Given the description of an element on the screen output the (x, y) to click on. 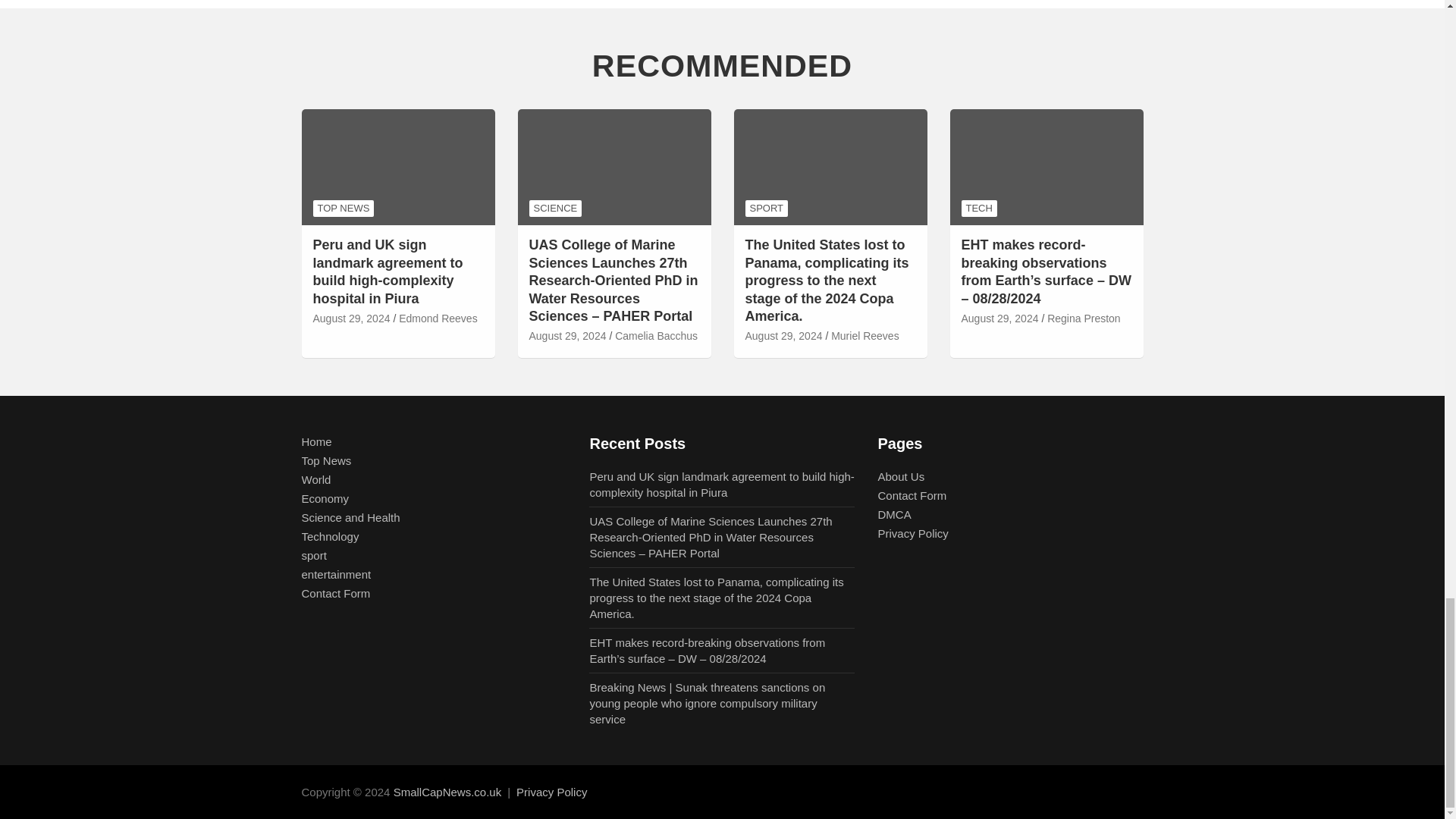
SmallCapNews.co.uk (447, 791)
